Given the description of an element on the screen output the (x, y) to click on. 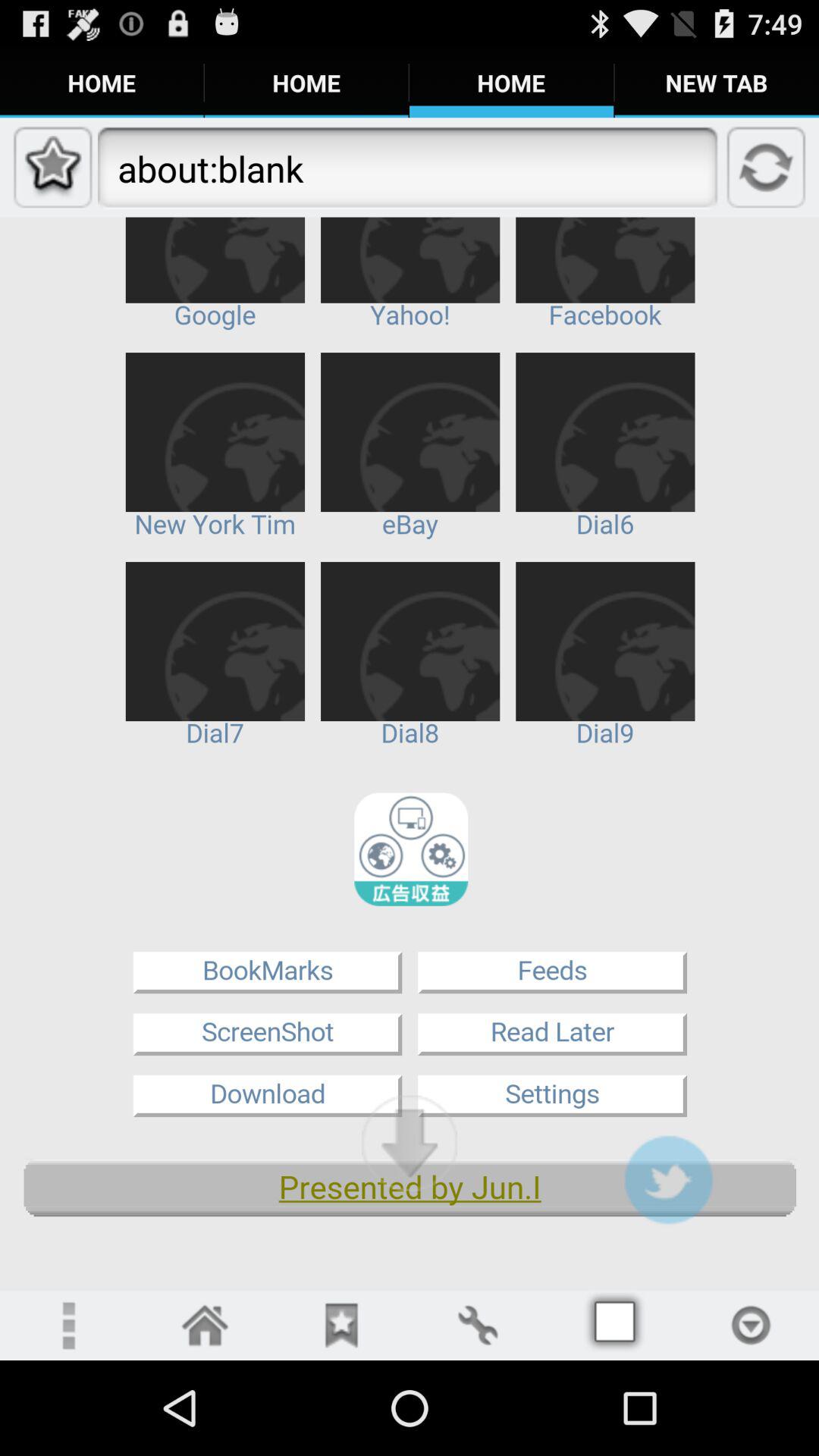
settings (477, 1325)
